Given the description of an element on the screen output the (x, y) to click on. 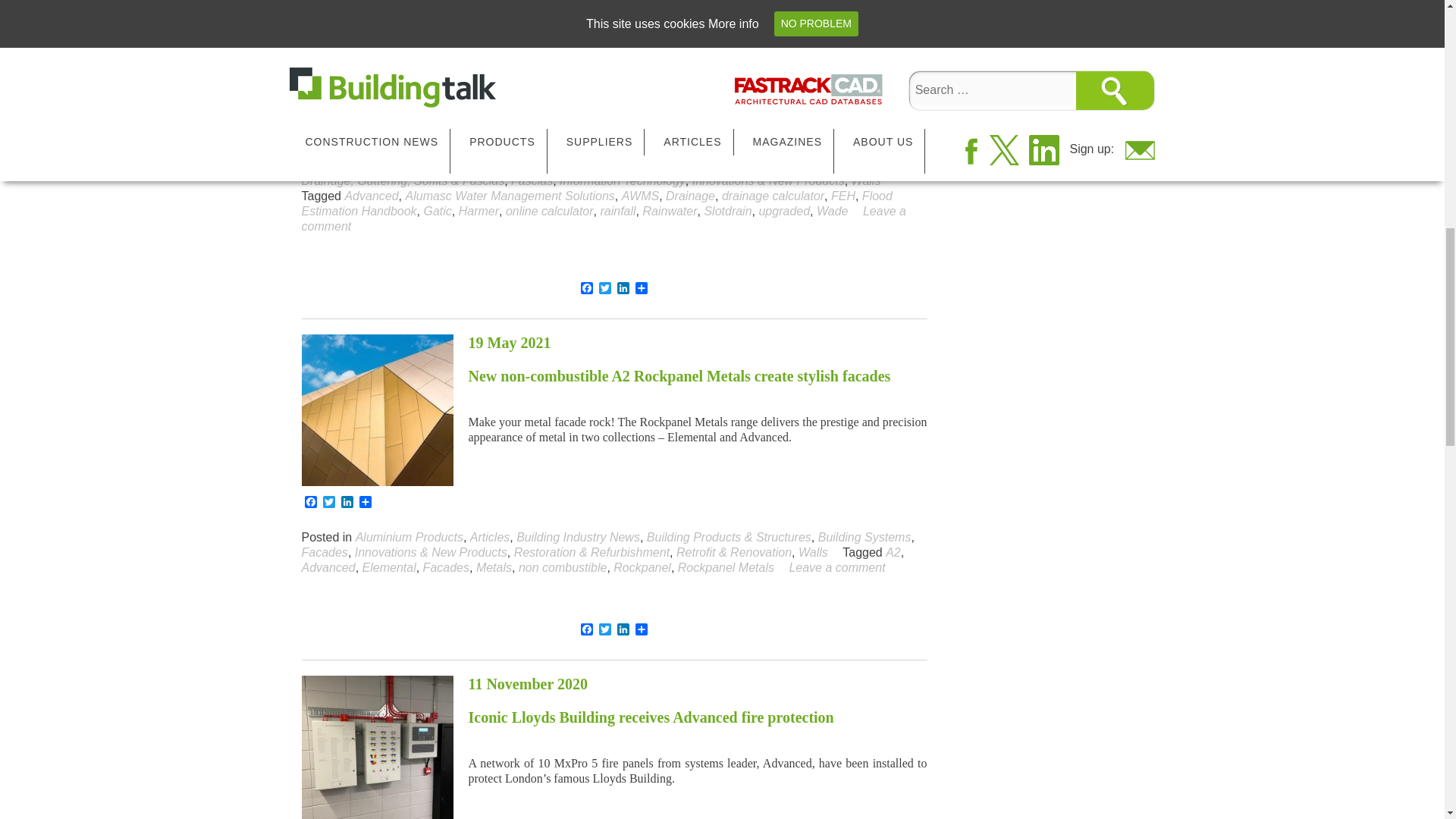
Facebook (310, 131)
Twitter (328, 131)
Alumasc launches new and advanced Online Calculator (376, 36)
Facebook (310, 503)
Twitter (604, 288)
LinkedIn (622, 288)
LinkedIn (346, 131)
Facebook (586, 288)
